Given the description of an element on the screen output the (x, y) to click on. 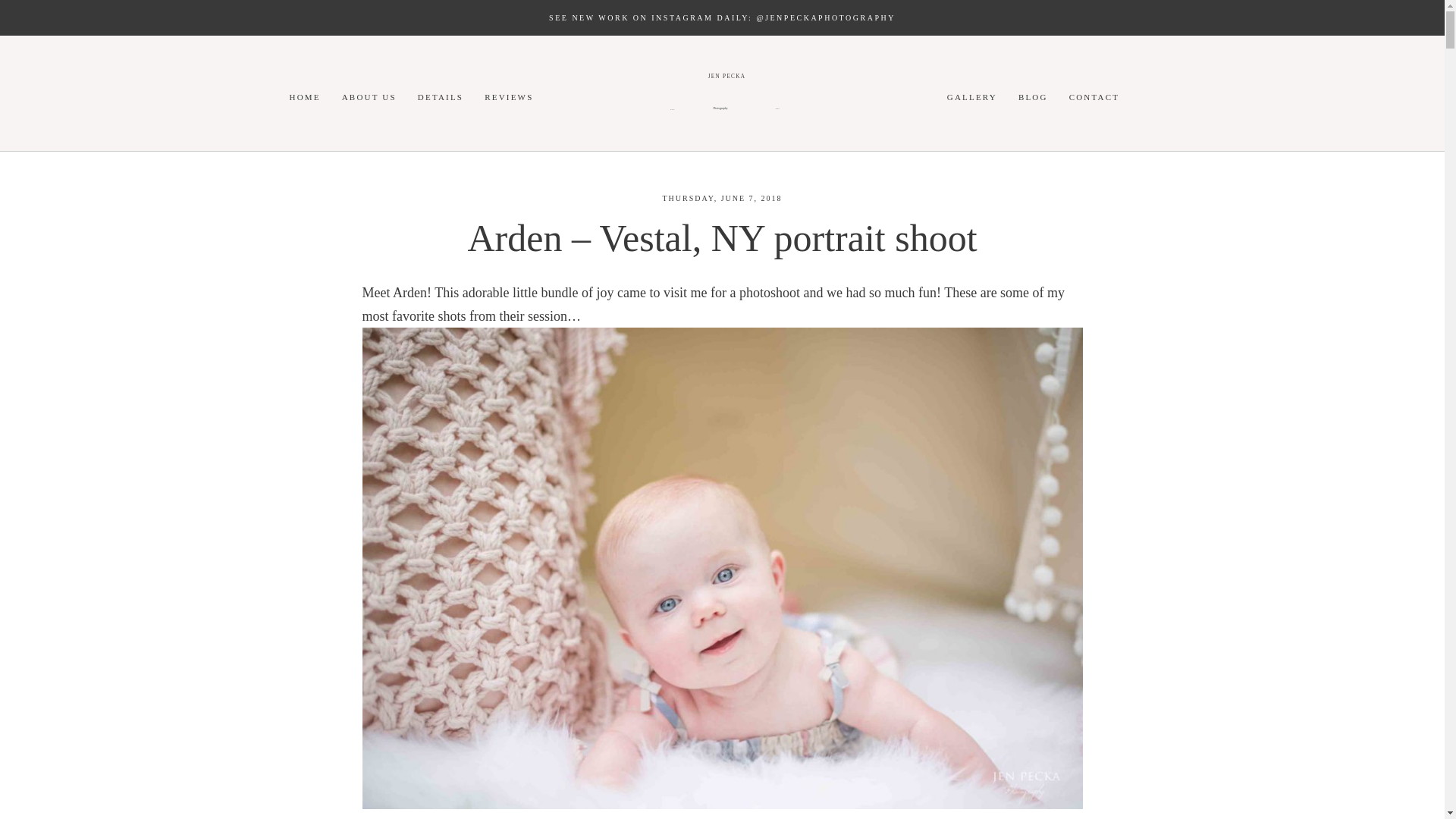
ABOUT US (369, 96)
CONTACT (1093, 96)
GALLERY (972, 96)
REVIEWS (508, 96)
DETAILS (440, 96)
HOME (721, 97)
BLOG (304, 96)
